Given the description of an element on the screen output the (x, y) to click on. 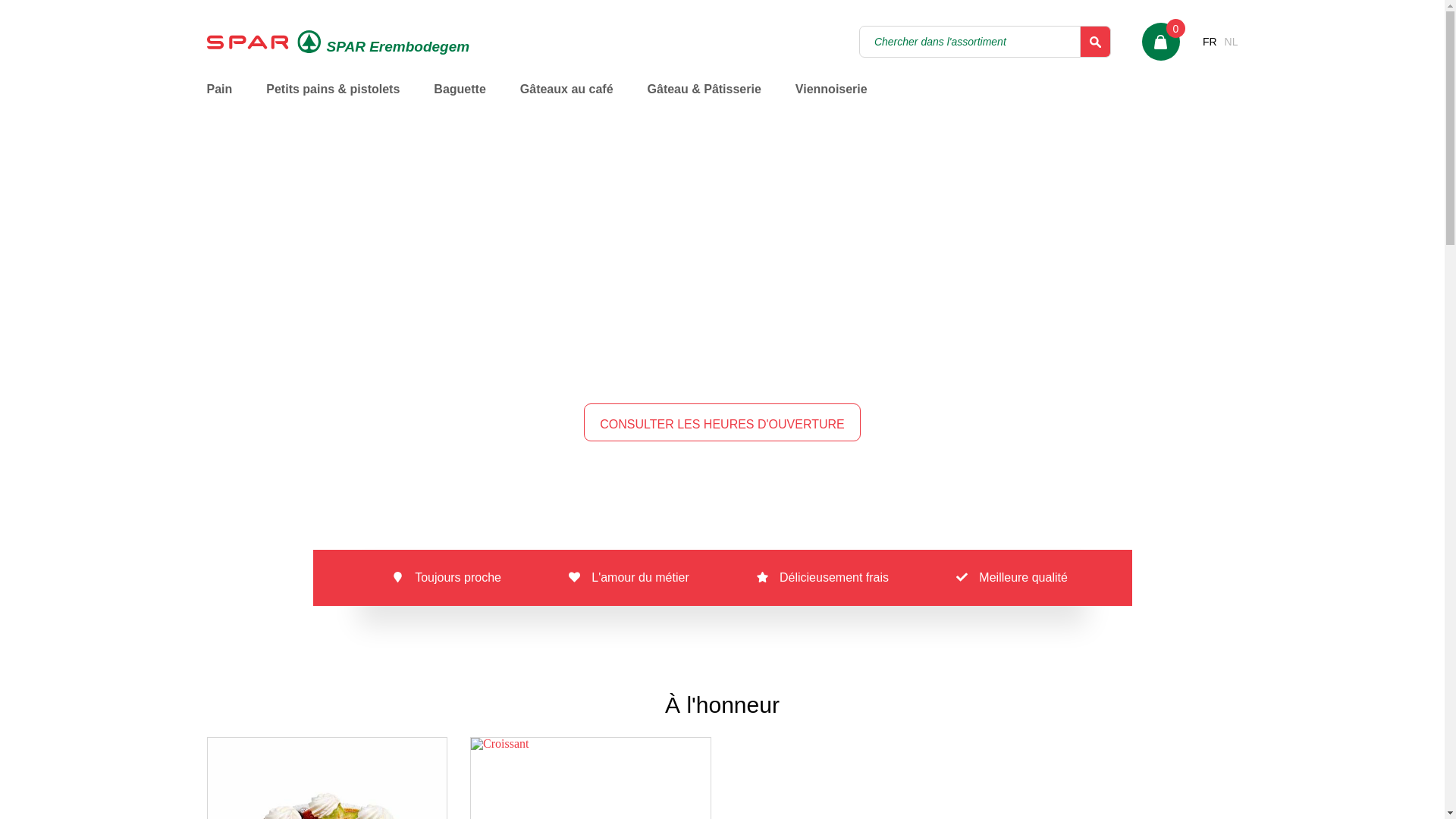
SPAR Erembodegem Element type: text (337, 41)
NL Element type: text (1231, 41)
Chercher Element type: text (1095, 41)
Pain Element type: text (219, 99)
Viennoiserie Element type: text (831, 99)
Petits pains & pistolets Element type: text (332, 99)
0
panier Element type: text (1160, 41)
Brusselbaan 208, 9320 Erembodegem Element type: text (819, 375)
Baguette Element type: text (459, 99)
FR Element type: text (1209, 41)
CONSULTER LES HEURES D'OUVERTURE Element type: text (721, 422)
